Given the description of an element on the screen output the (x, y) to click on. 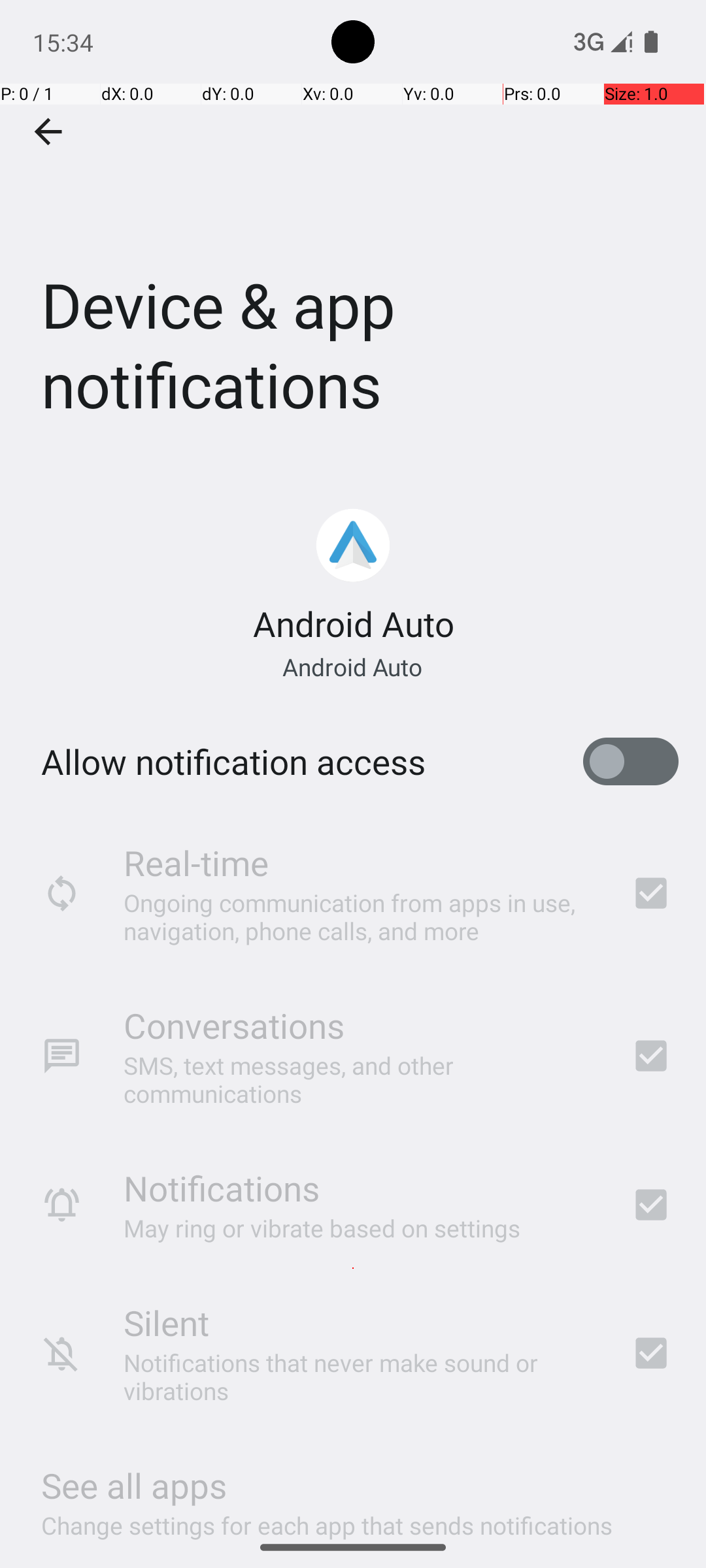
Android Auto Element type: android.widget.TextView (352, 623)
Allow notification access Element type: android.widget.TextView (233, 761)
Real-time Element type: android.widget.TextView (195, 862)
Ongoing communication from apps in use, navigation, phone calls, and more Element type: android.widget.TextView (359, 916)
SMS, text messages, and other communications Element type: android.widget.TextView (359, 1079)
May ring or vibrate based on settings Element type: android.widget.TextView (322, 1227)
Silent Element type: android.widget.TextView (166, 1322)
Notifications that never make sound or vibrations Element type: android.widget.TextView (359, 1376)
See all apps Element type: android.widget.TextView (133, 1485)
Change settings for each app that sends notifications Element type: android.widget.TextView (326, 1517)
